Given the description of an element on the screen output the (x, y) to click on. 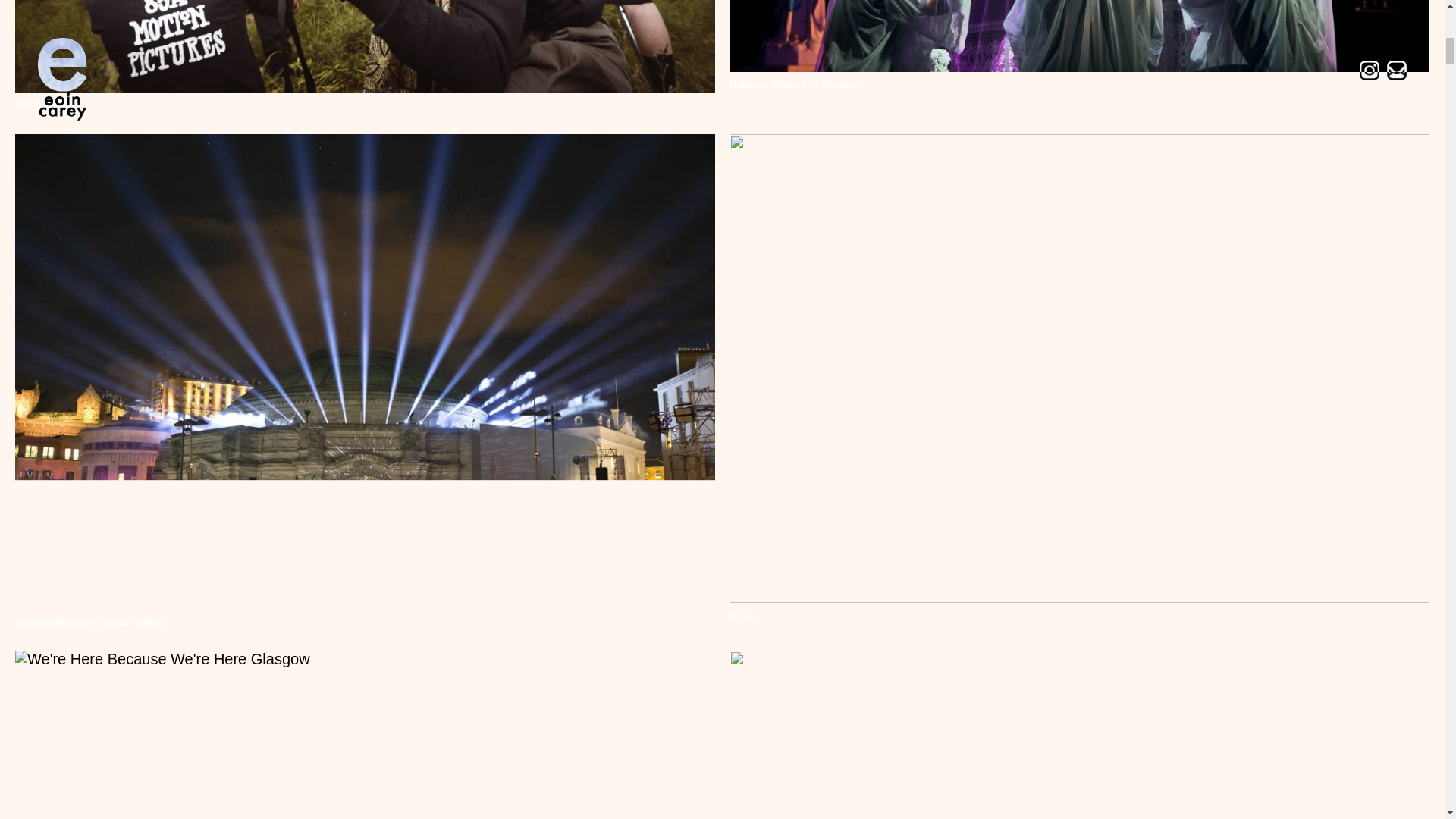
14 -18 NOW (364, 734)
National Theatre of Scotland (1079, 49)
85A Projects (364, 59)
